Given the description of an element on the screen output the (x, y) to click on. 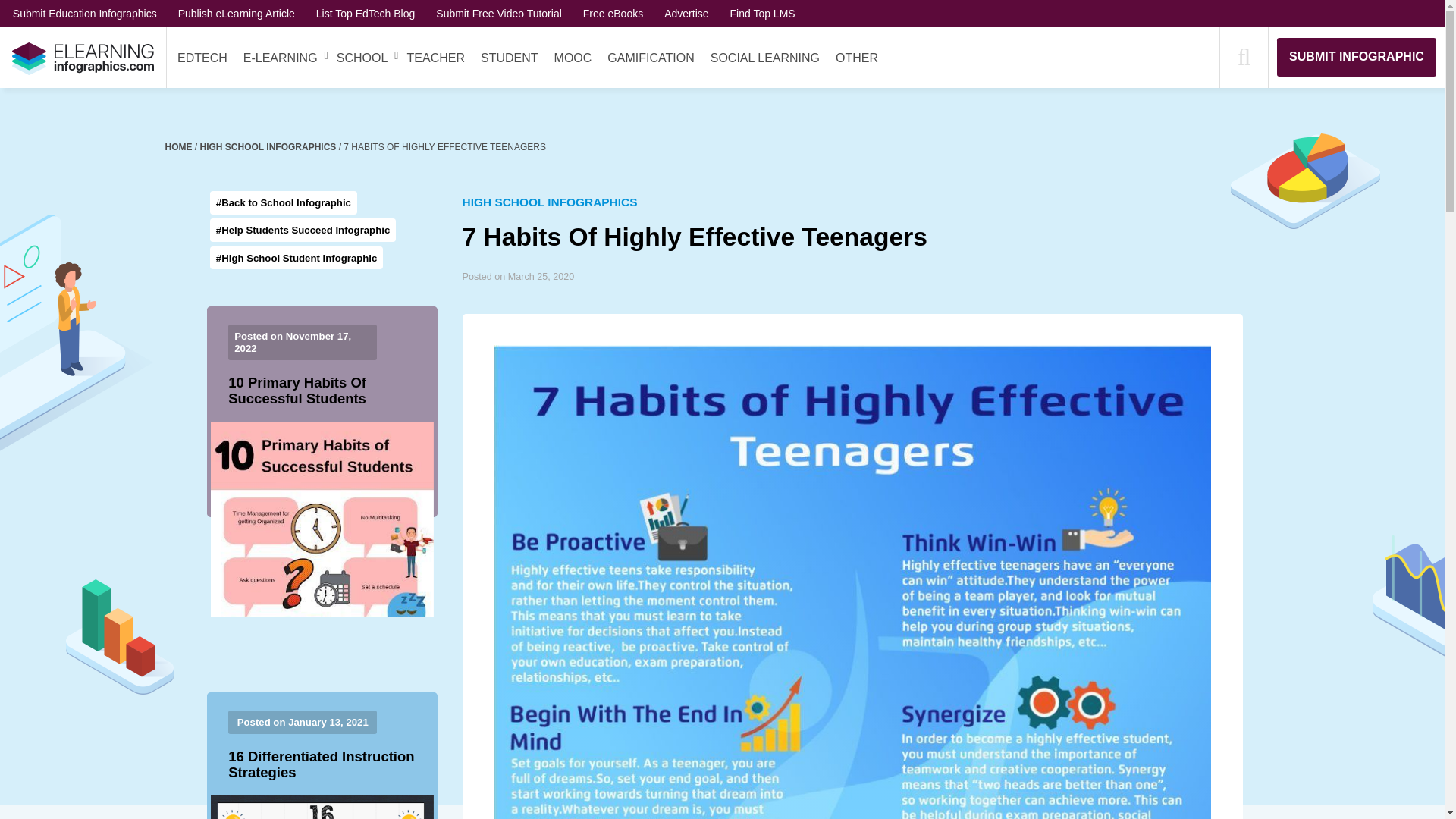
E-LEARNING (280, 58)
Publish eLearning Article (236, 13)
Gamification Infographics (650, 58)
TEACHER (435, 58)
HOME (180, 146)
Student Infographics (509, 58)
Free eBooks (613, 13)
Teacher Infographics (435, 58)
Submit Free Video Tutorial (498, 13)
Submit Education Infographics (85, 13)
